Given the description of an element on the screen output the (x, y) to click on. 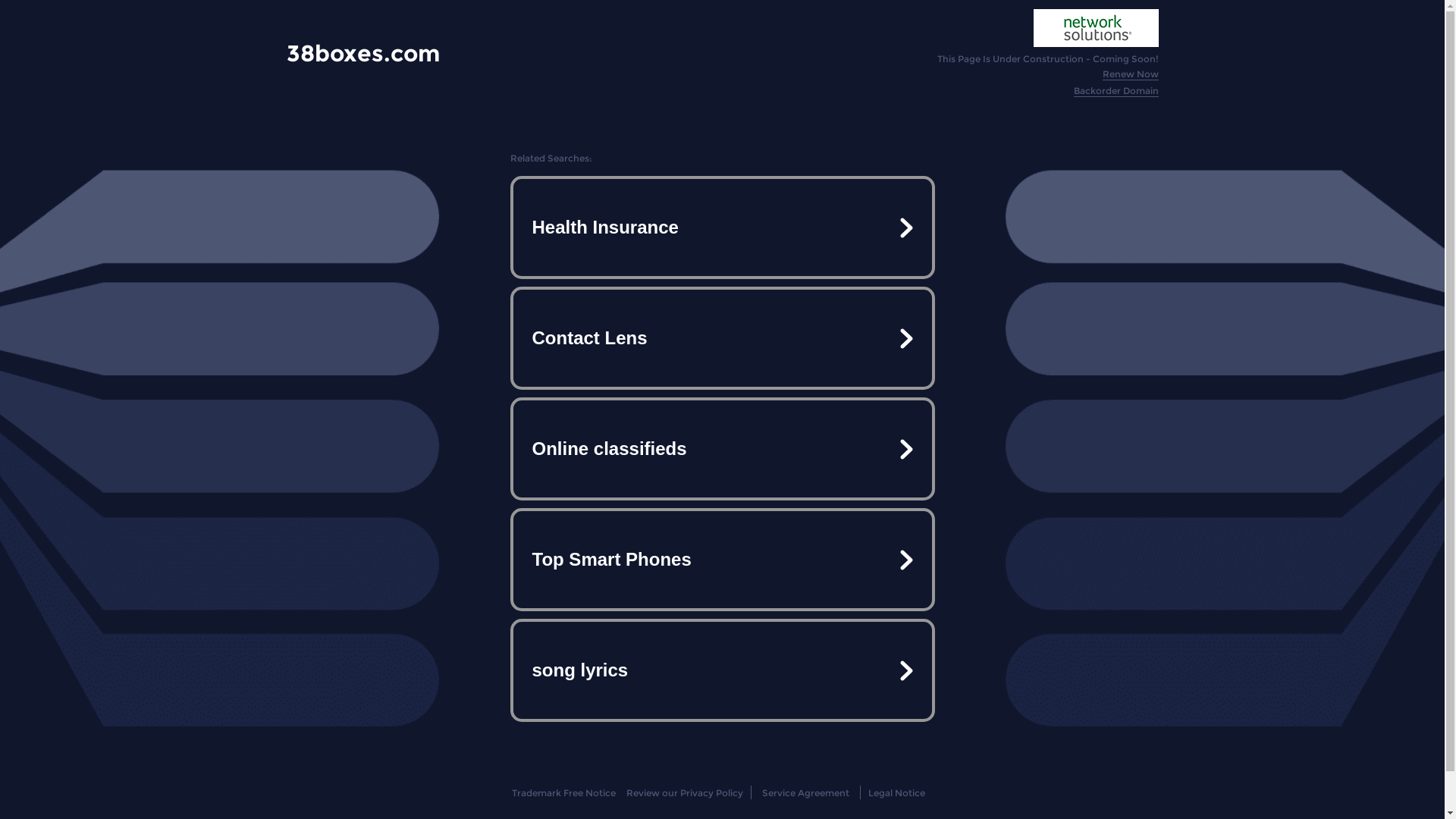
Legal Notice Element type: text (896, 792)
Renew Now Element type: text (1130, 74)
Health Insurance Element type: text (721, 227)
Contact Lens Element type: text (721, 337)
Backorder Domain Element type: text (1115, 90)
Review our Privacy Policy Element type: text (684, 792)
Online classifieds Element type: text (721, 448)
Trademark Free Notice Element type: text (563, 792)
38boxes.com Element type: text (362, 53)
Top Smart Phones Element type: text (721, 559)
song lyrics Element type: text (721, 669)
Service Agreement Element type: text (805, 792)
